Given the description of an element on the screen output the (x, y) to click on. 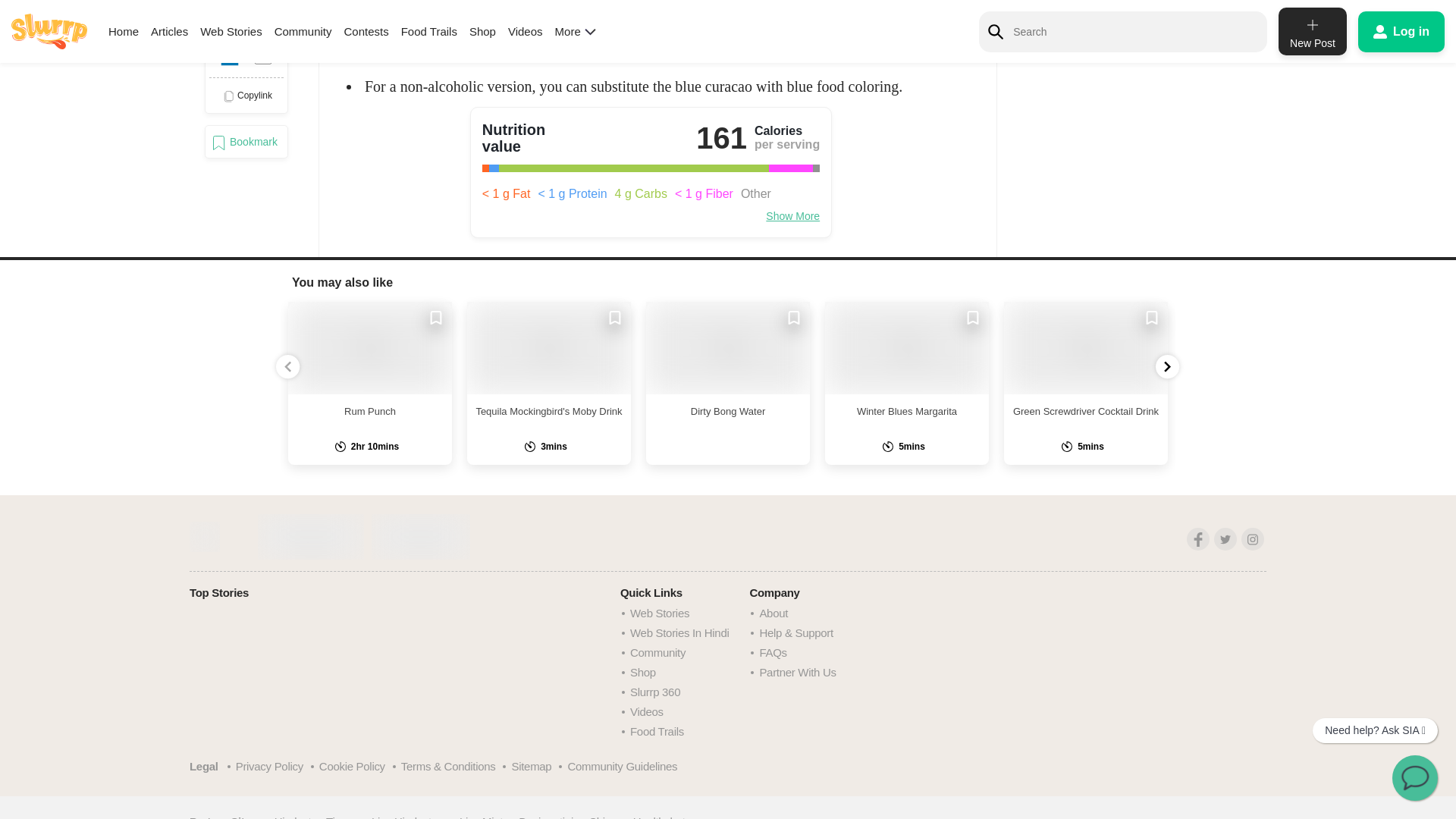
Tequila Mockingbird's Moby Drink (548, 347)
Rum Punch (369, 347)
